Given the description of an element on the screen output the (x, y) to click on. 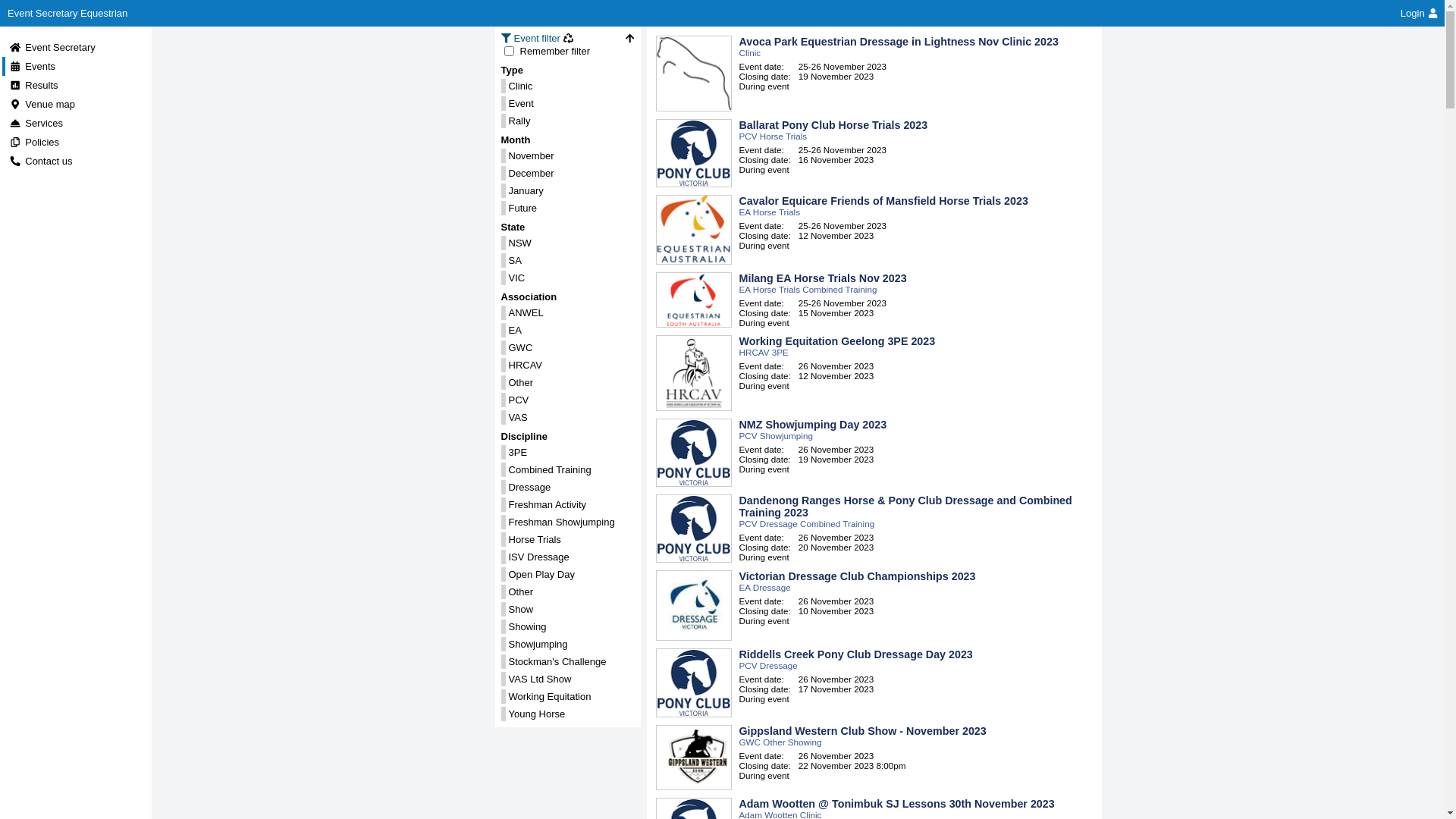
Policies Element type: text (34, 141)
Events Element type: text (32, 66)
Services Element type: text (35, 122)
Remove filters Element type: hover (568, 37)
Venue map Element type: text (42, 103)
Results Element type: text (33, 85)
Contact us Element type: text (40, 160)
Login Element type: text (1418, 12)
Event Secretary Element type: text (52, 47)
Hide Filter Element type: hover (629, 37)
